Given the description of an element on the screen output the (x, y) to click on. 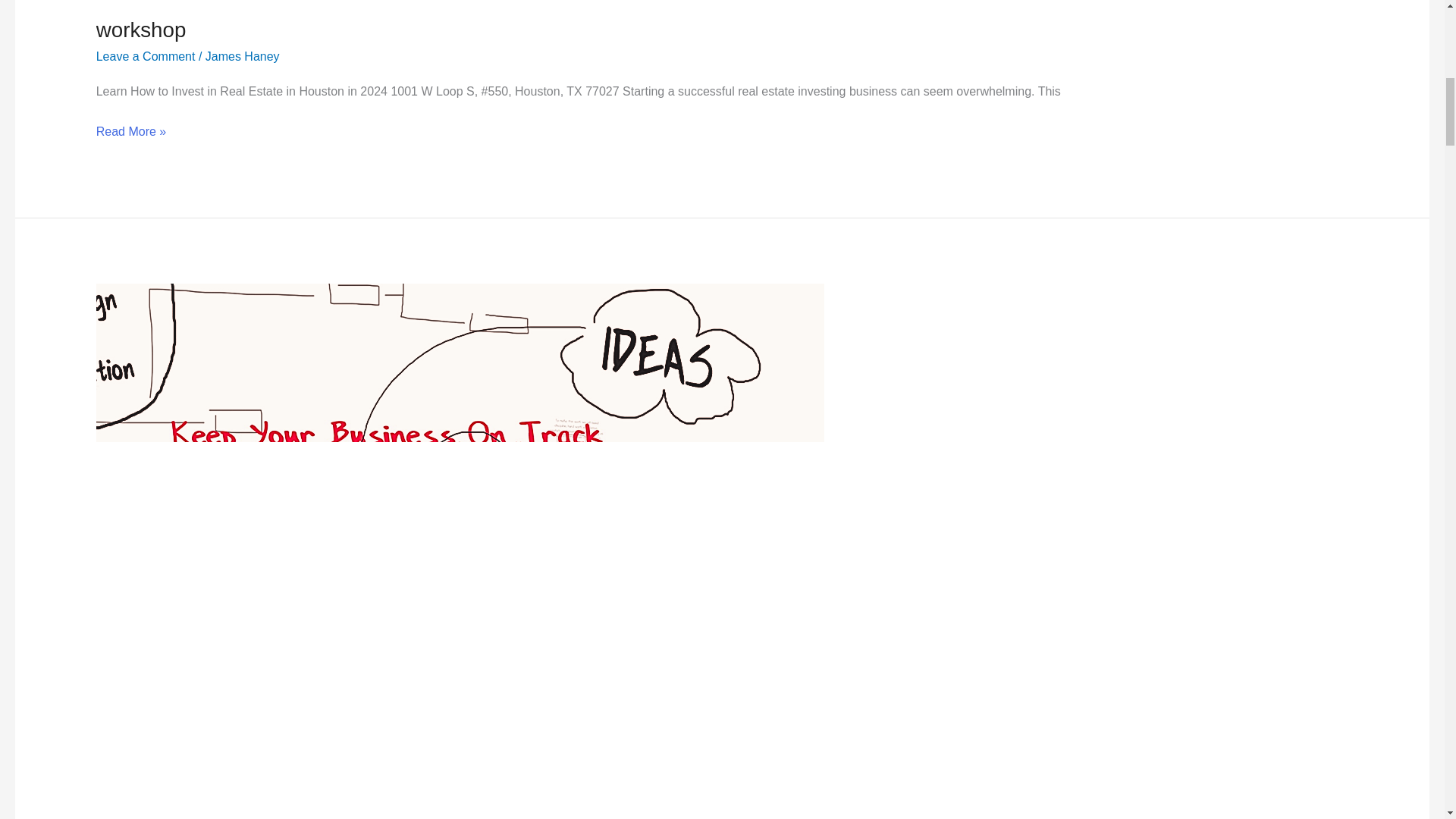
workshop (141, 29)
View all posts by James Haney (242, 56)
James Haney (242, 56)
Leave a Comment (145, 56)
